Given the description of an element on the screen output the (x, y) to click on. 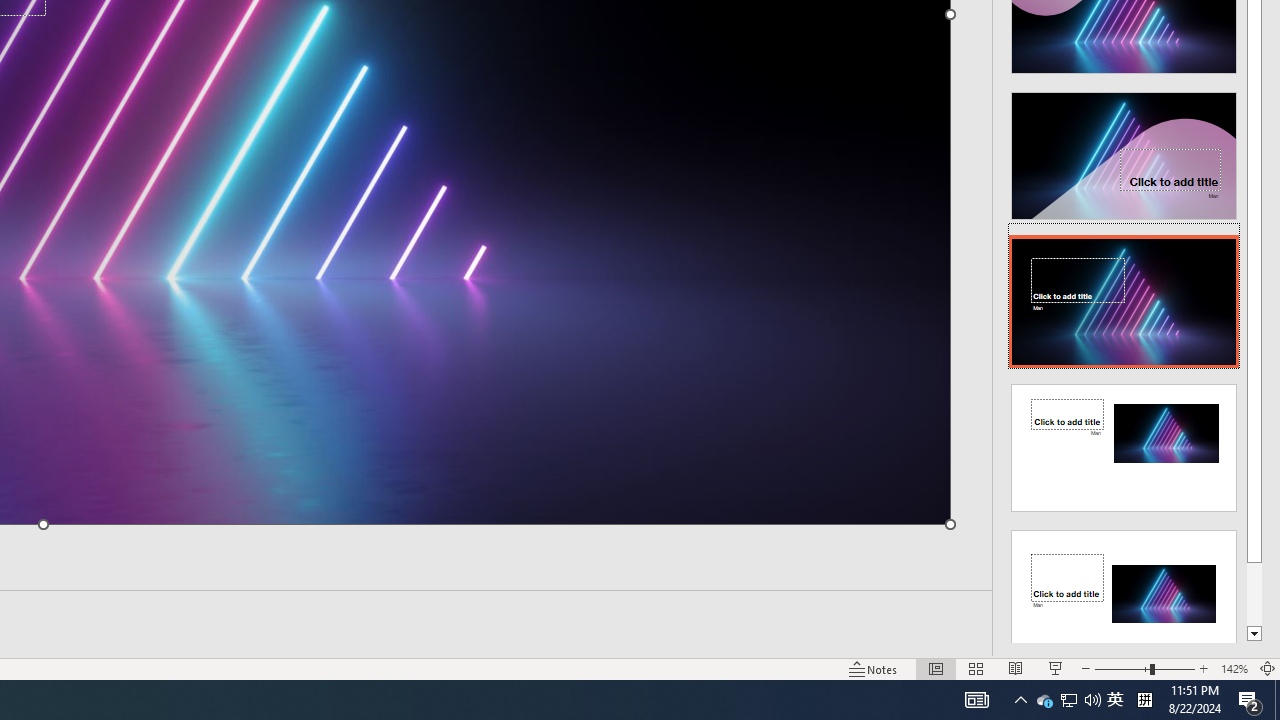
Zoom 142% (1234, 668)
